Given the description of an element on the screen output the (x, y) to click on. 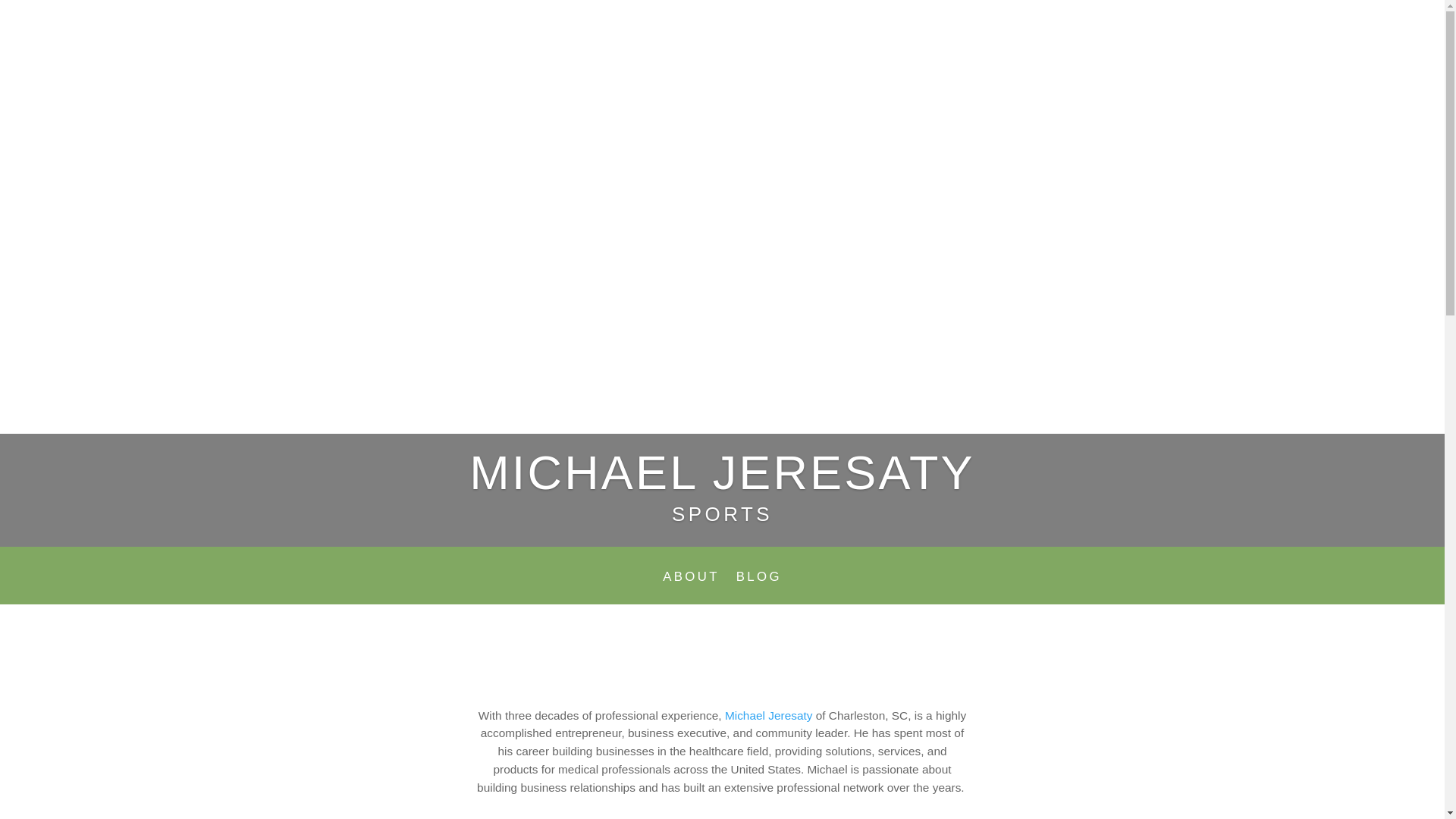
BLOG (758, 587)
Michael Jeresaty (768, 714)
ABOUT (690, 587)
